Given the description of an element on the screen output the (x, y) to click on. 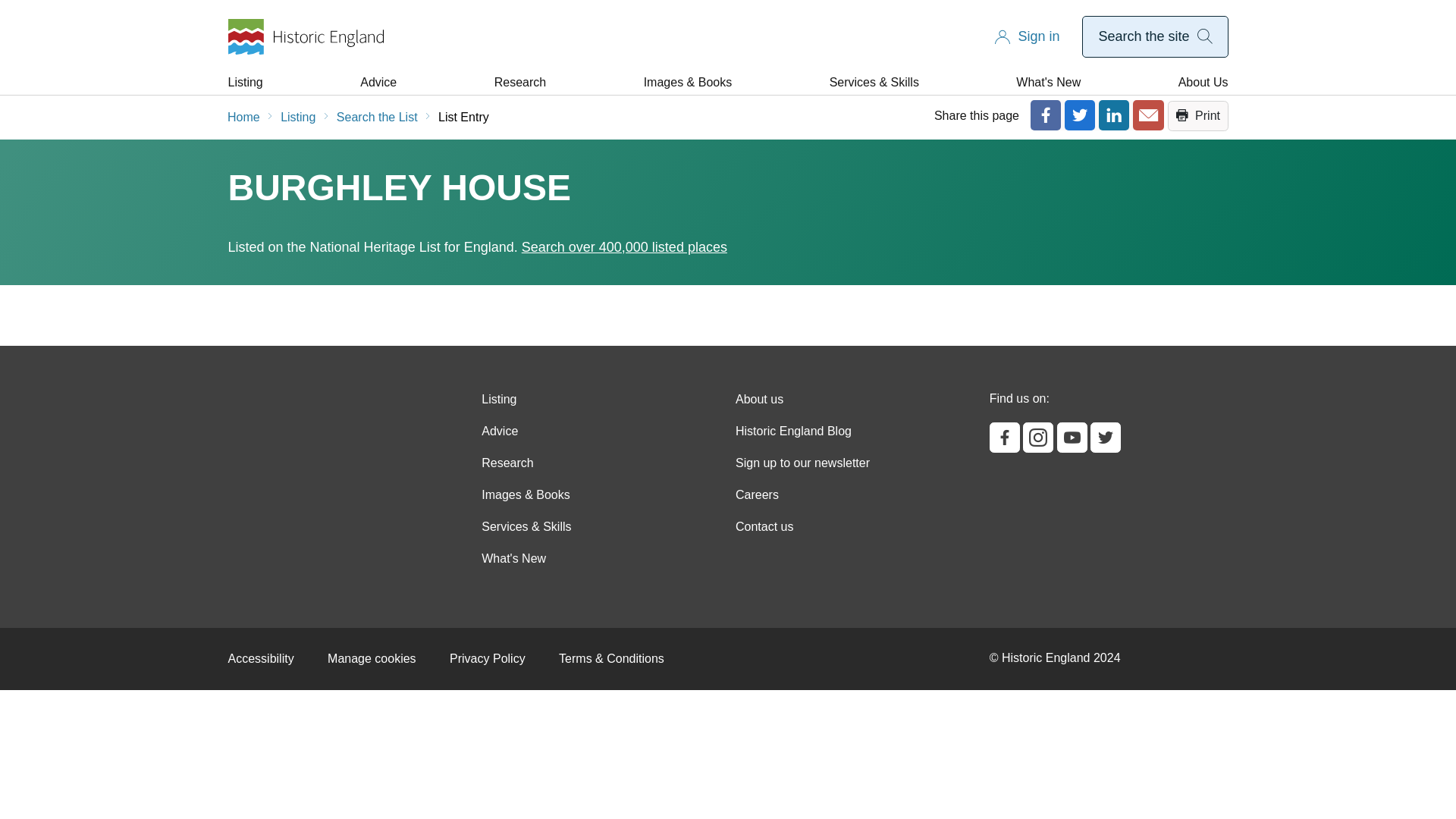
Print this page (1197, 115)
What's New (1048, 82)
Share this page by Email (1147, 114)
Listing (244, 82)
Research (520, 82)
Share this page on Twitter (1079, 114)
Share this page on LinkedIn (1114, 114)
Search Historic England (1154, 36)
Search the site (1154, 36)
Sign in (1038, 36)
Advice (377, 82)
About Us (1202, 82)
Share this page on Facebook (1045, 114)
Historic England - home page (305, 36)
